Given the description of an element on the screen output the (x, y) to click on. 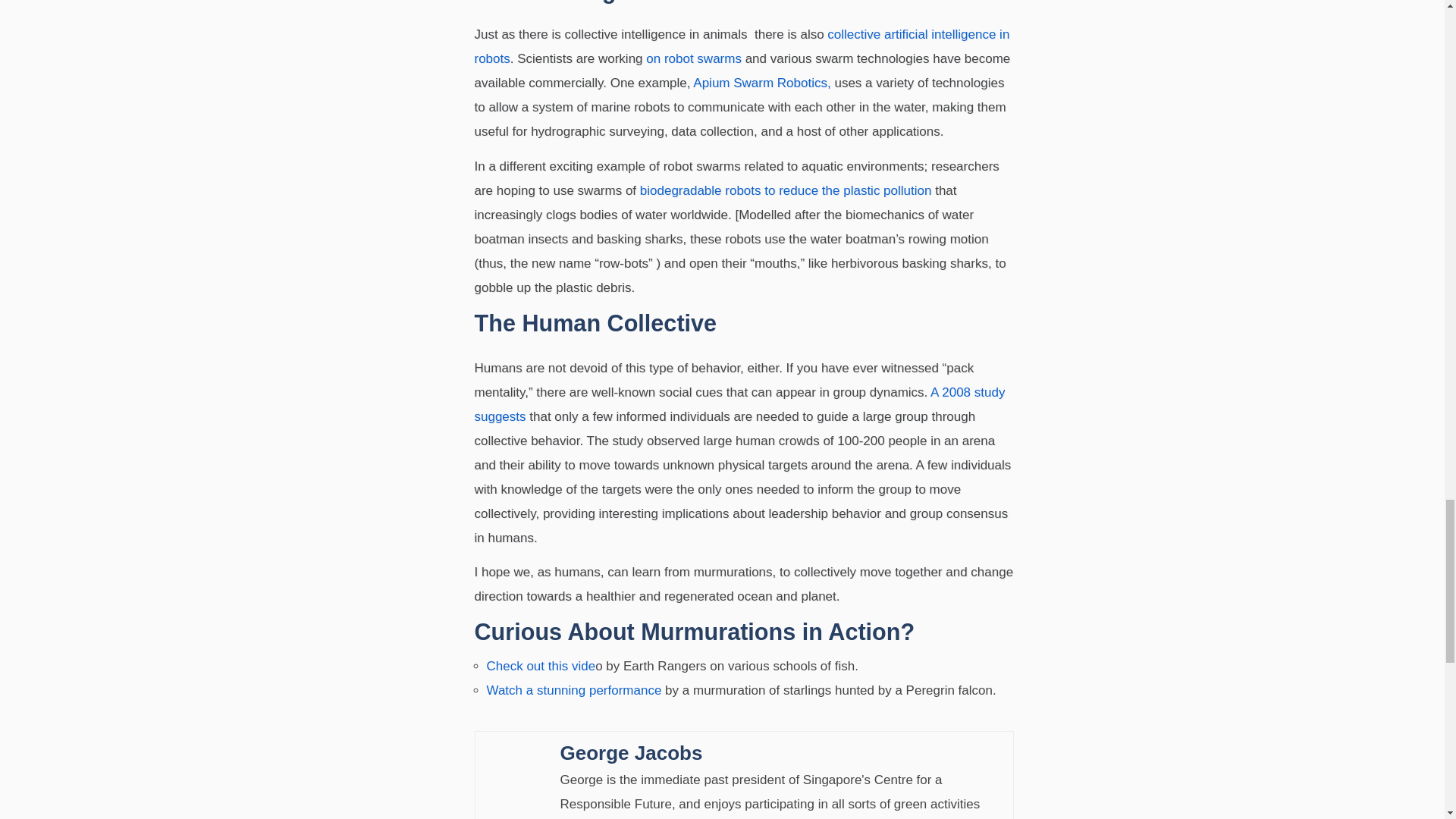
on robot swarms (693, 58)
Apium Swarm Robotics, (763, 83)
collective artificial intelligence in robots (742, 46)
Check out this vide (540, 666)
Watch a stunning performance (574, 690)
biodegradable robots to reduce the plastic pollution (785, 190)
A 2008 study suggests (740, 404)
George Jacobs (782, 752)
